Given the description of an element on the screen output the (x, y) to click on. 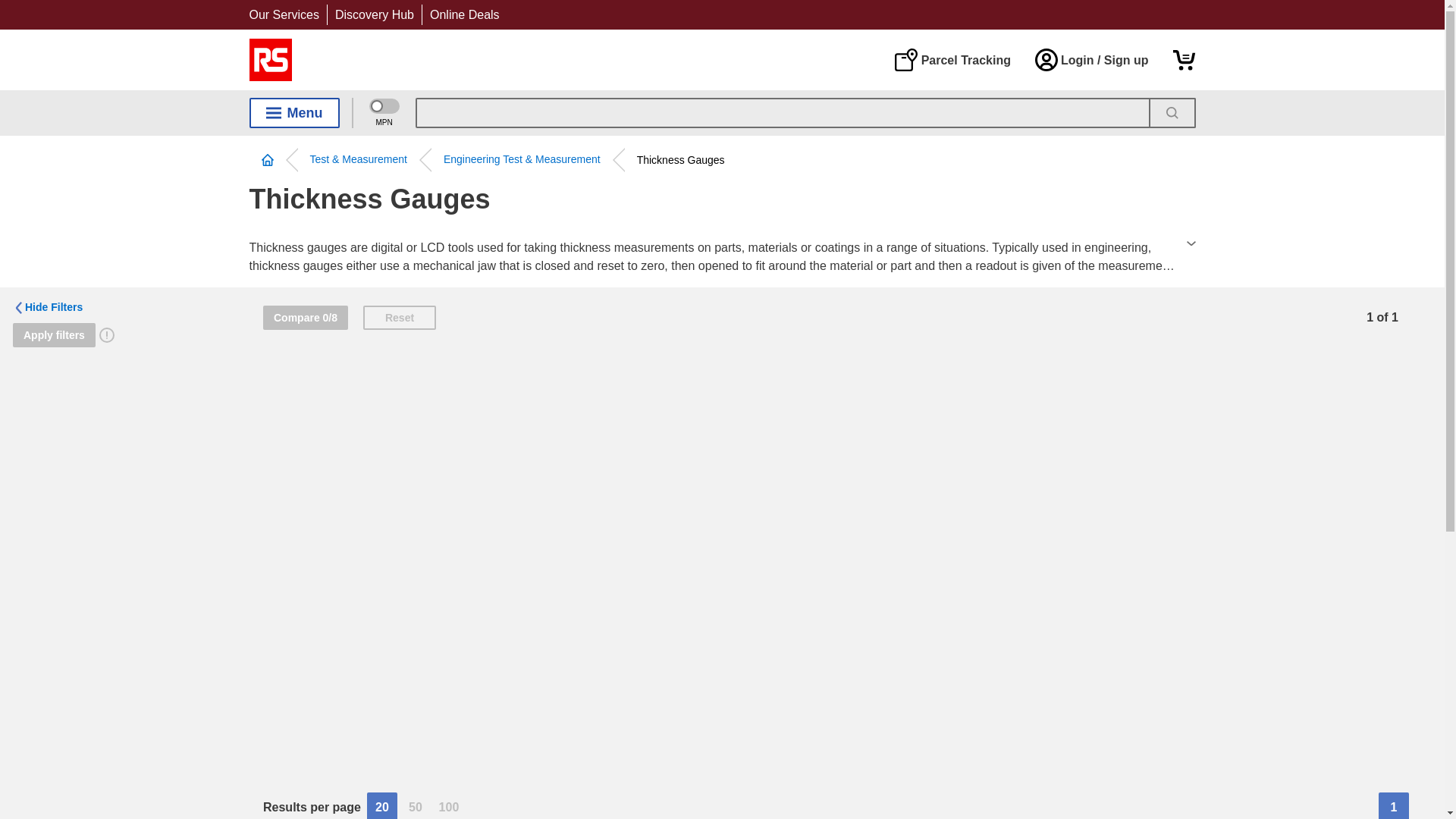
Parcel Tracking (951, 59)
Discovery Hub (373, 14)
Online Deals (464, 14)
Menu (293, 112)
Our Services (283, 14)
